Given the description of an element on the screen output the (x, y) to click on. 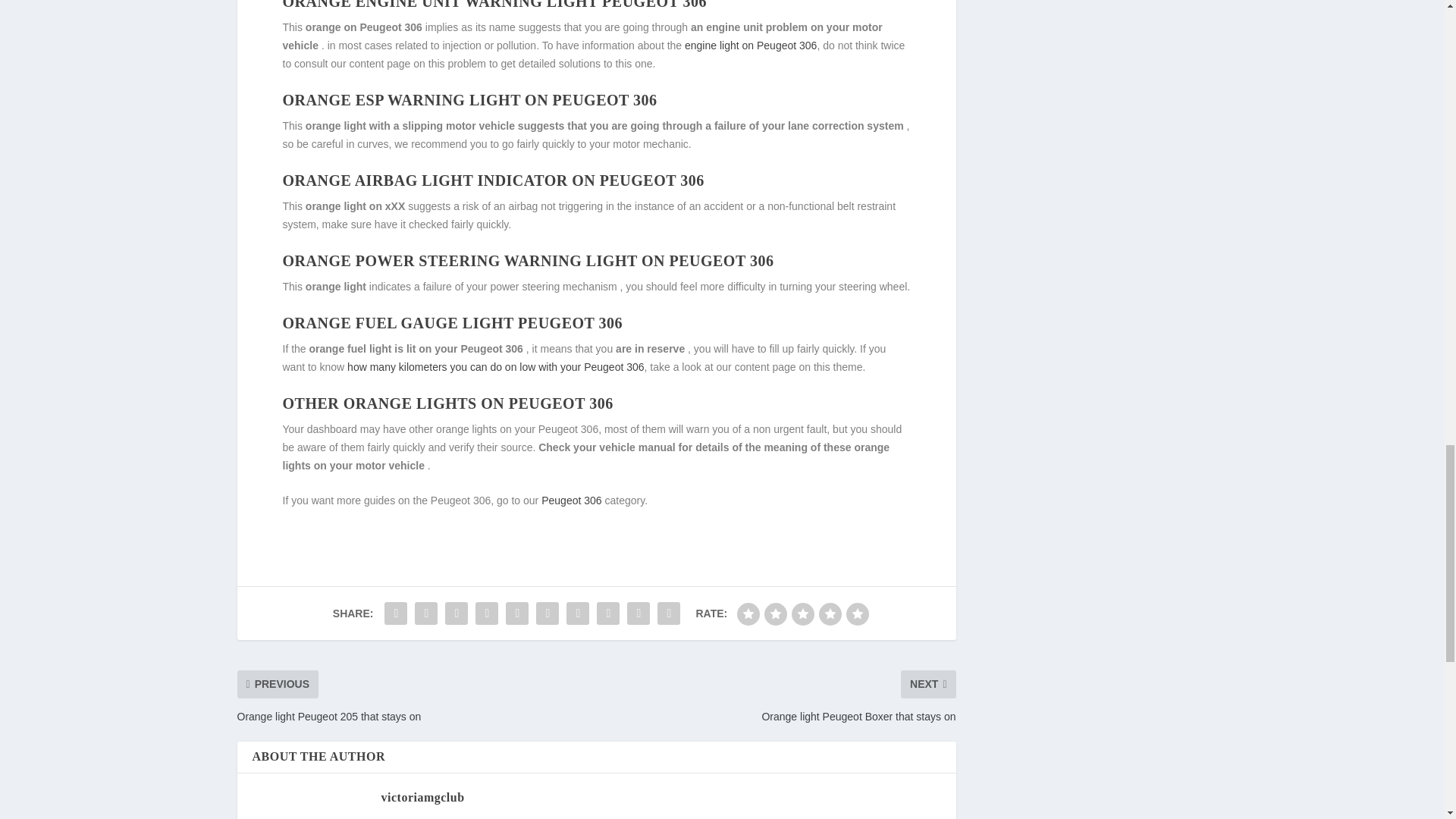
Peugeot 306 (571, 500)
victoriamgclub (422, 796)
how many kilometers you can do on low with your Peugeot 306 (495, 367)
engine light on Peugeot 306 (750, 45)
